Given the description of an element on the screen output the (x, y) to click on. 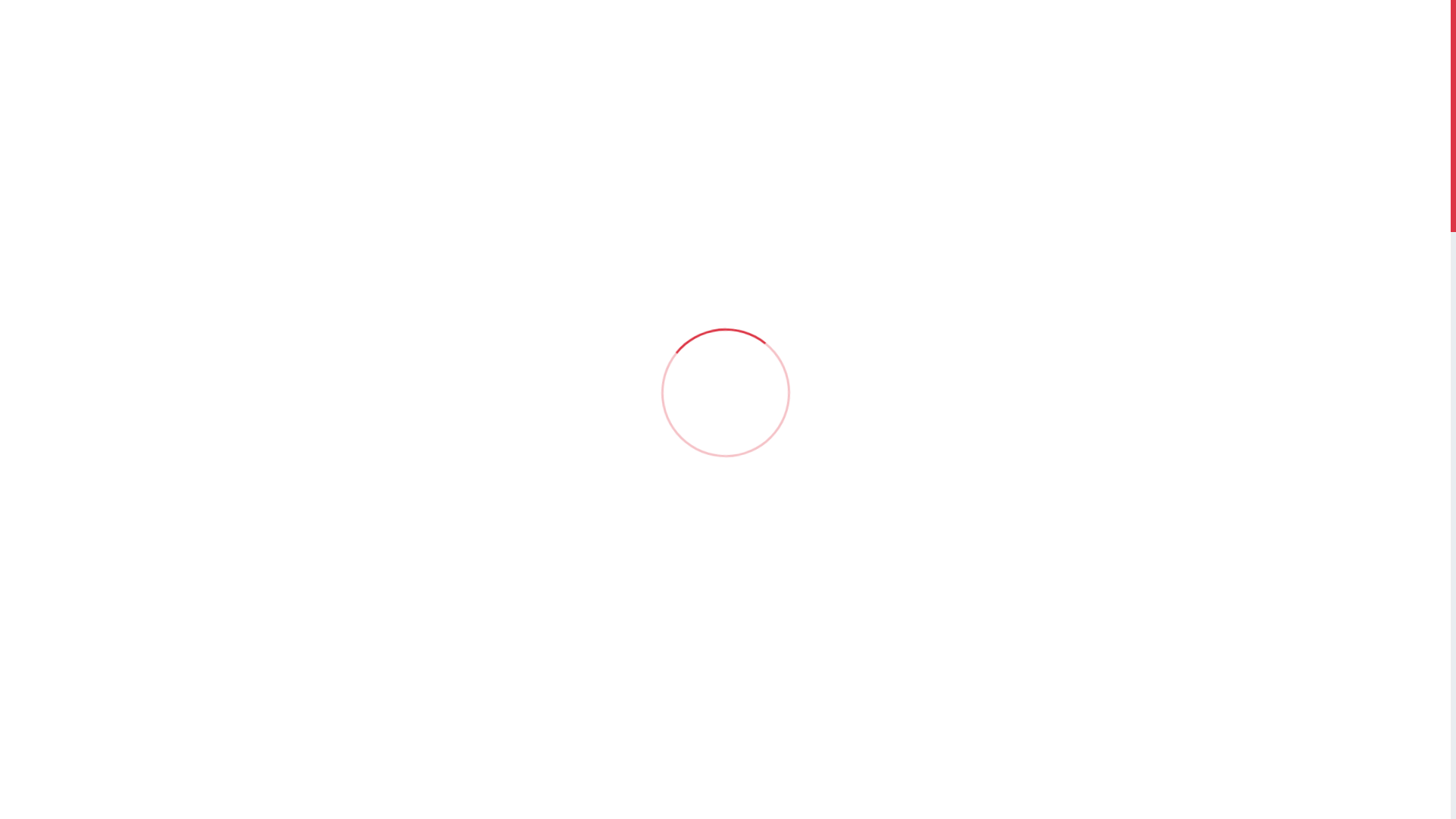
Logo Element type: hover (357, 790)
Contact Element type: text (1065, 790)
Clients Element type: text (889, 790)
Credit Cards Element type: text (975, 790)
Home Element type: text (749, 790)
About Element type: text (818, 790)
